Given the description of an element on the screen output the (x, y) to click on. 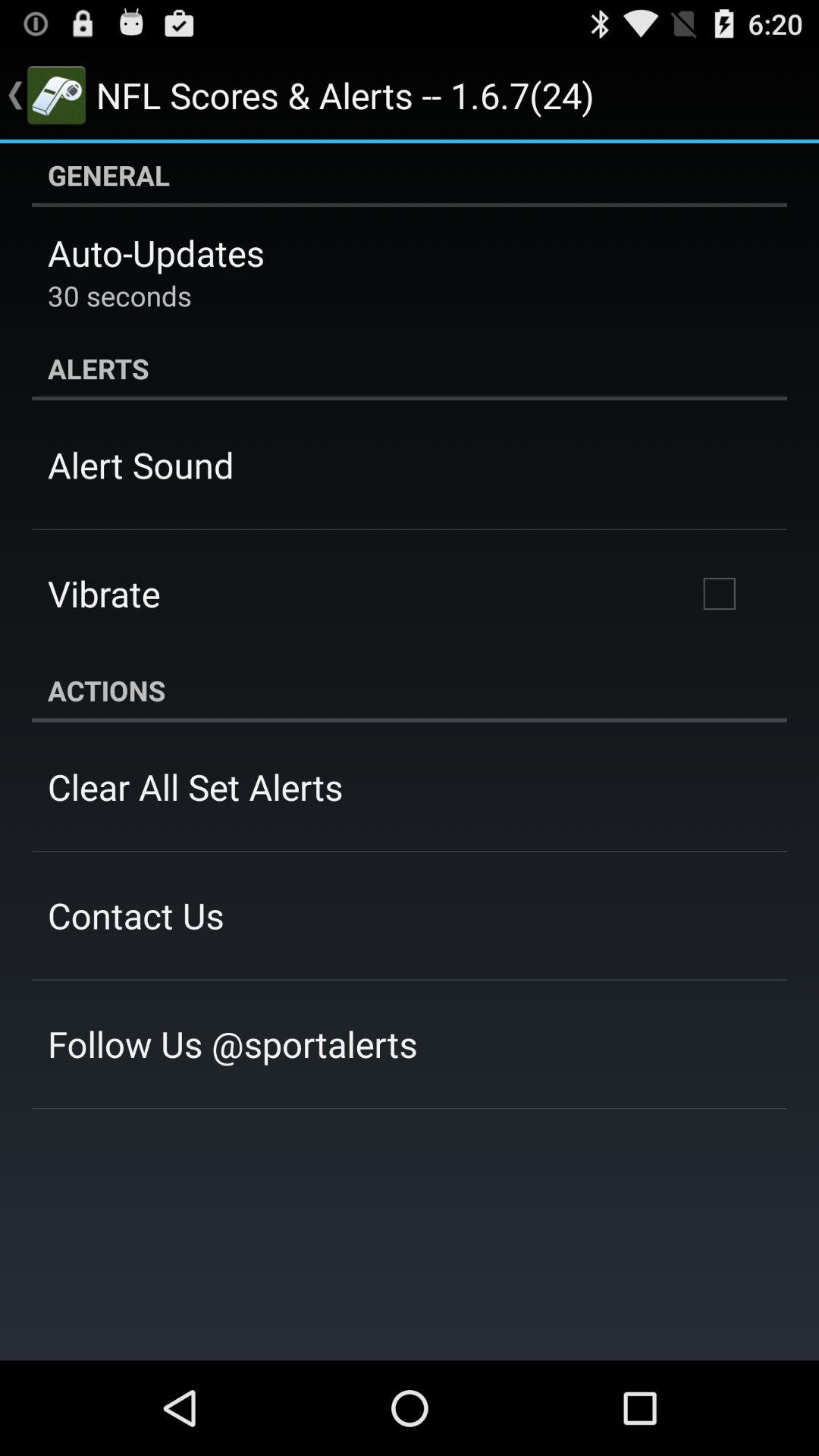
turn off app below the general app (155, 252)
